Given the description of an element on the screen output the (x, y) to click on. 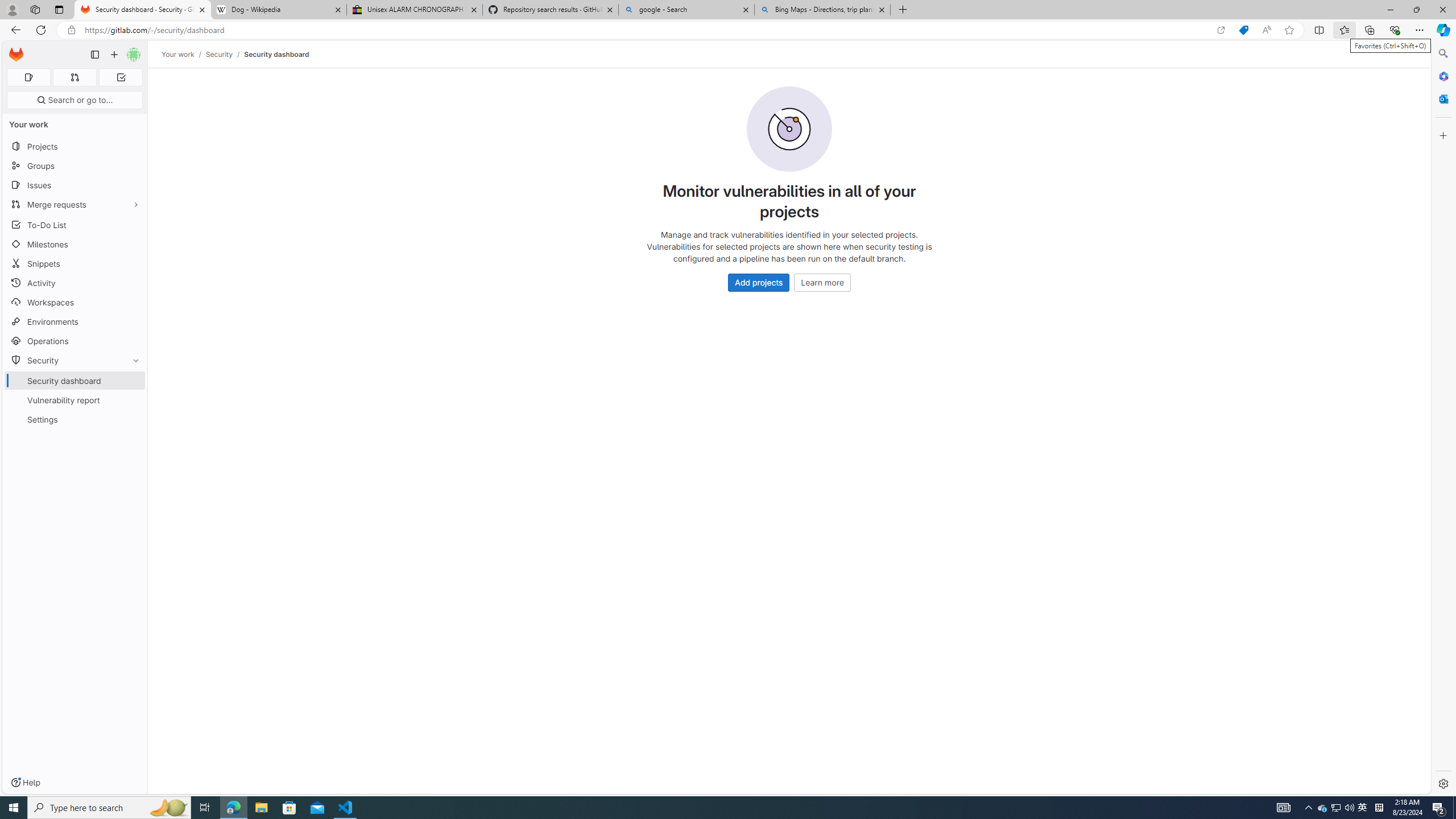
Milestones (74, 244)
Security dashboard (276, 53)
Help (25, 782)
Vulnerability report (74, 399)
Groups (74, 165)
Issues (74, 185)
Security dashboard (276, 53)
Customize (1442, 135)
